Given the description of an element on the screen output the (x, y) to click on. 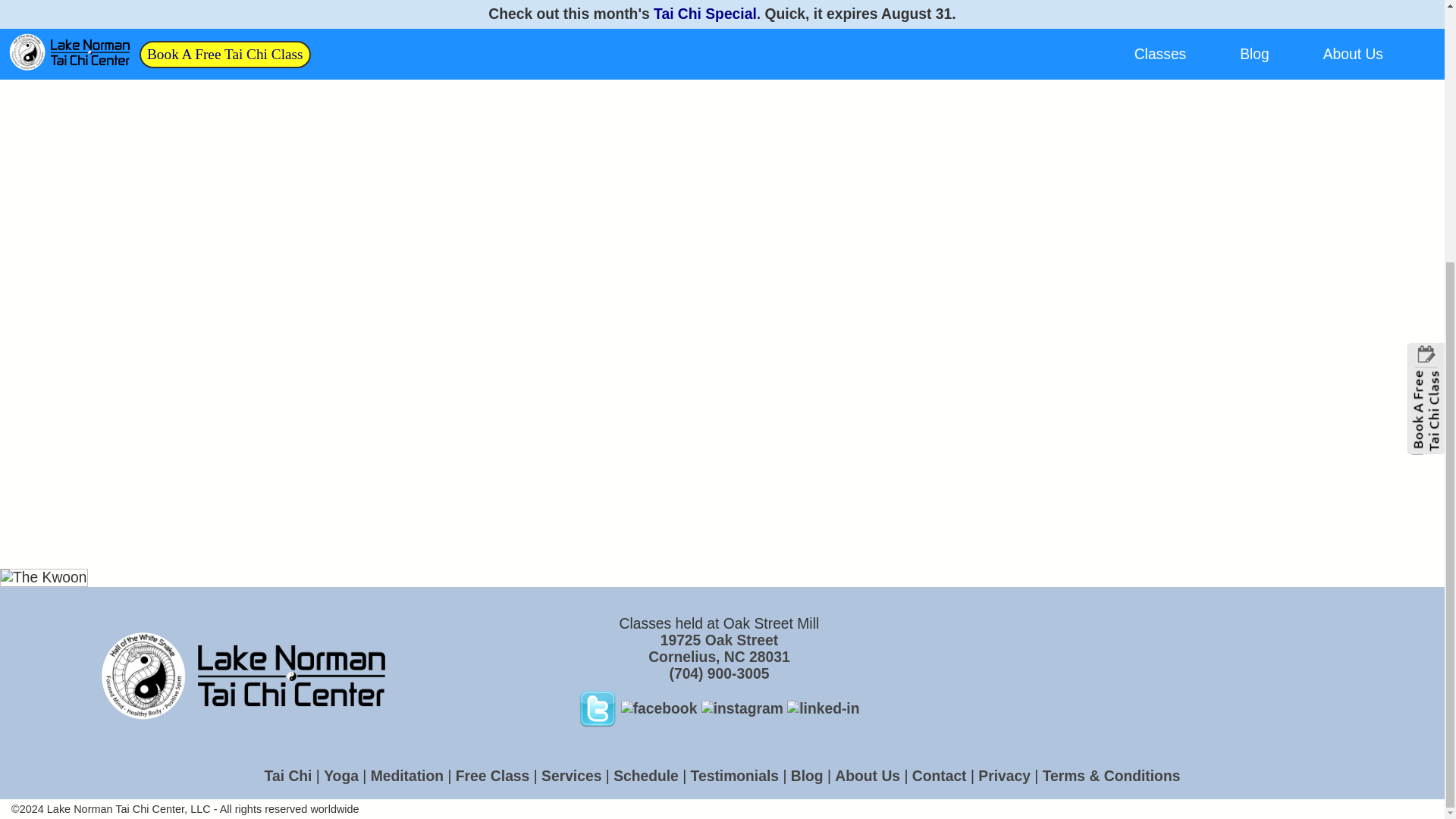
Lake Norman Tai Chi Center Instagram Page (741, 707)
Lake Norman Tai Chi Center Twitter Page (657, 707)
Get directions (718, 648)
Lake Norman Tai Chi Center LinkedIn Page (781, 707)
Lake Norman Tai Chi Center Facebook Page (718, 648)
